Given the description of an element on the screen output the (x, y) to click on. 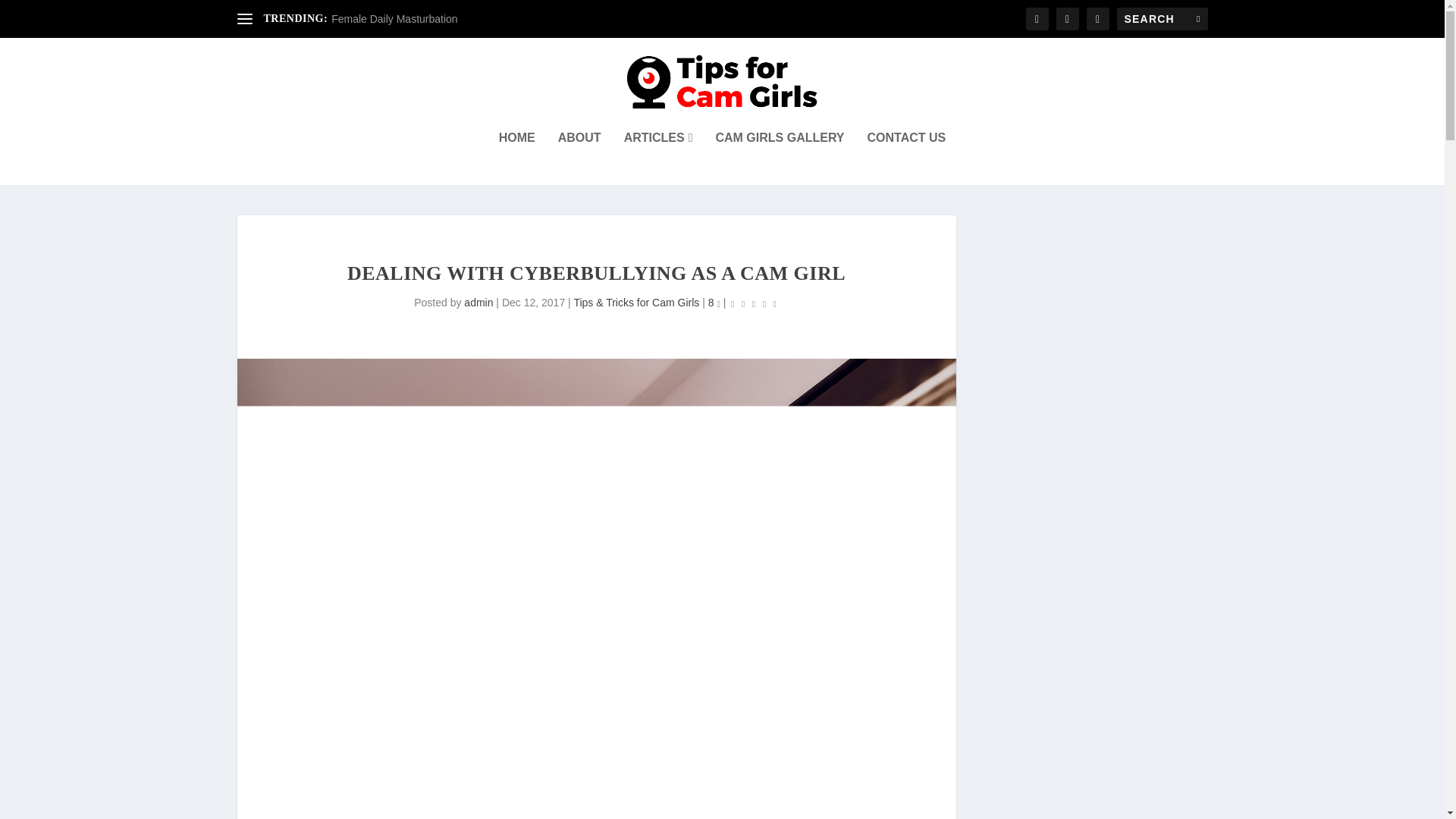
ARTICLES (658, 158)
CONTACT US (906, 158)
8 (713, 302)
admin (478, 302)
Female Daily Masturbation (394, 19)
Posts by admin (478, 302)
Search for: (1161, 18)
Rating: 0.00 (753, 303)
CAM GIRLS GALLERY (779, 158)
